Given the description of an element on the screen output the (x, y) to click on. 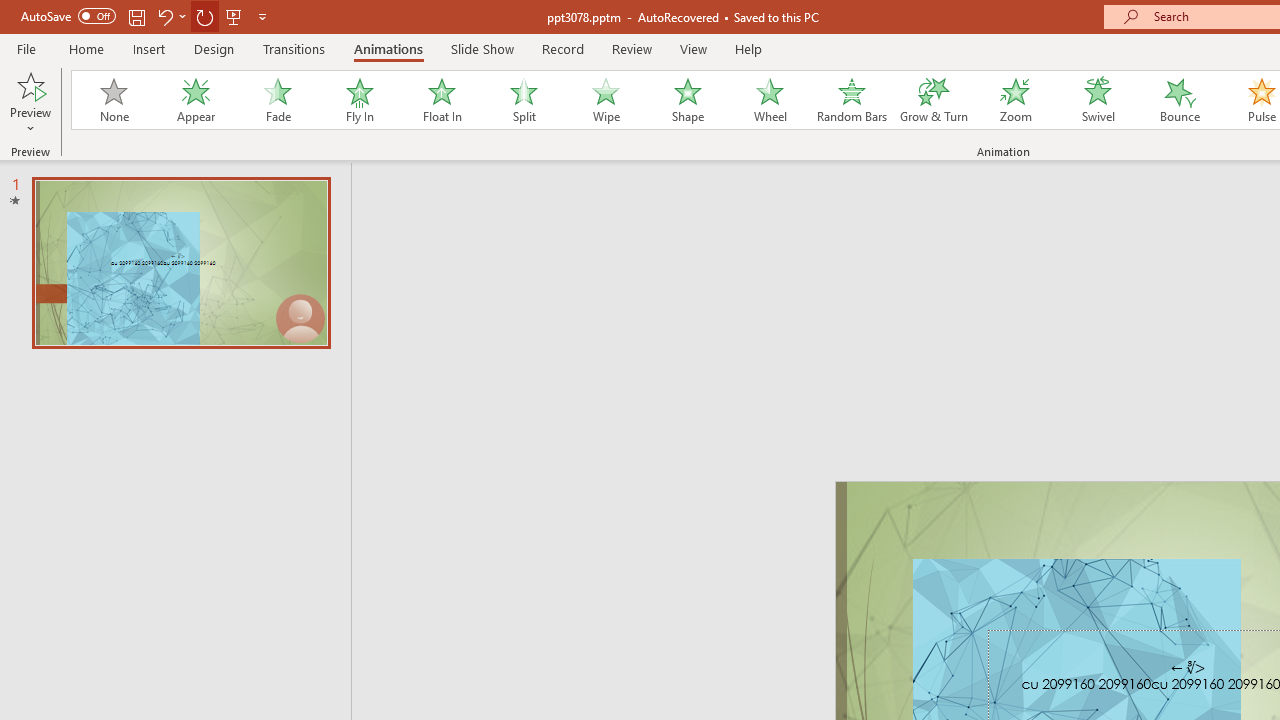
Wheel (770, 100)
